Given the description of an element on the screen output the (x, y) to click on. 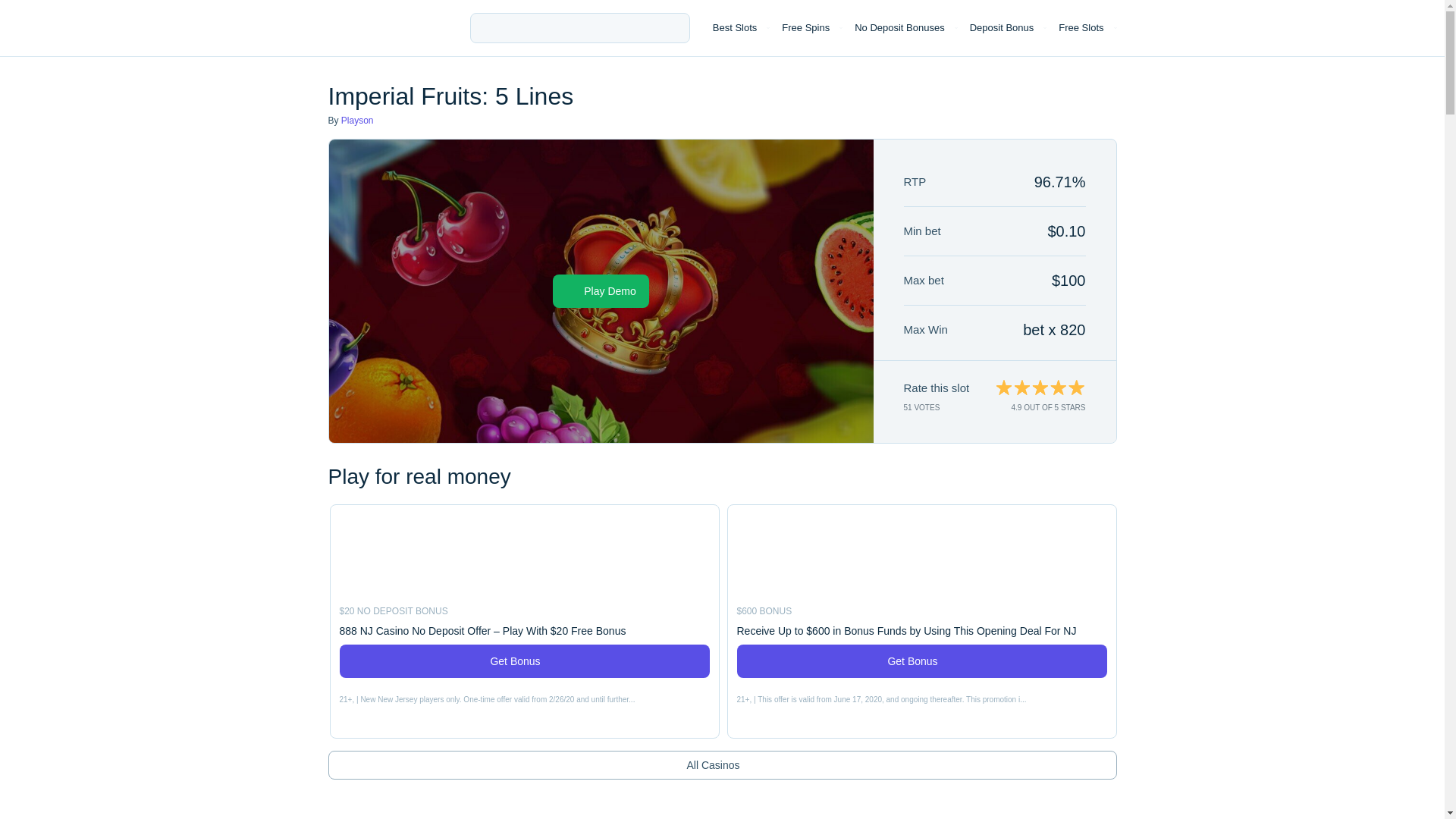
Free Spins (805, 28)
Best Slots (735, 28)
No Deposit Bonuses (899, 28)
All Casinos (721, 765)
